Given the description of an element on the screen output the (x, y) to click on. 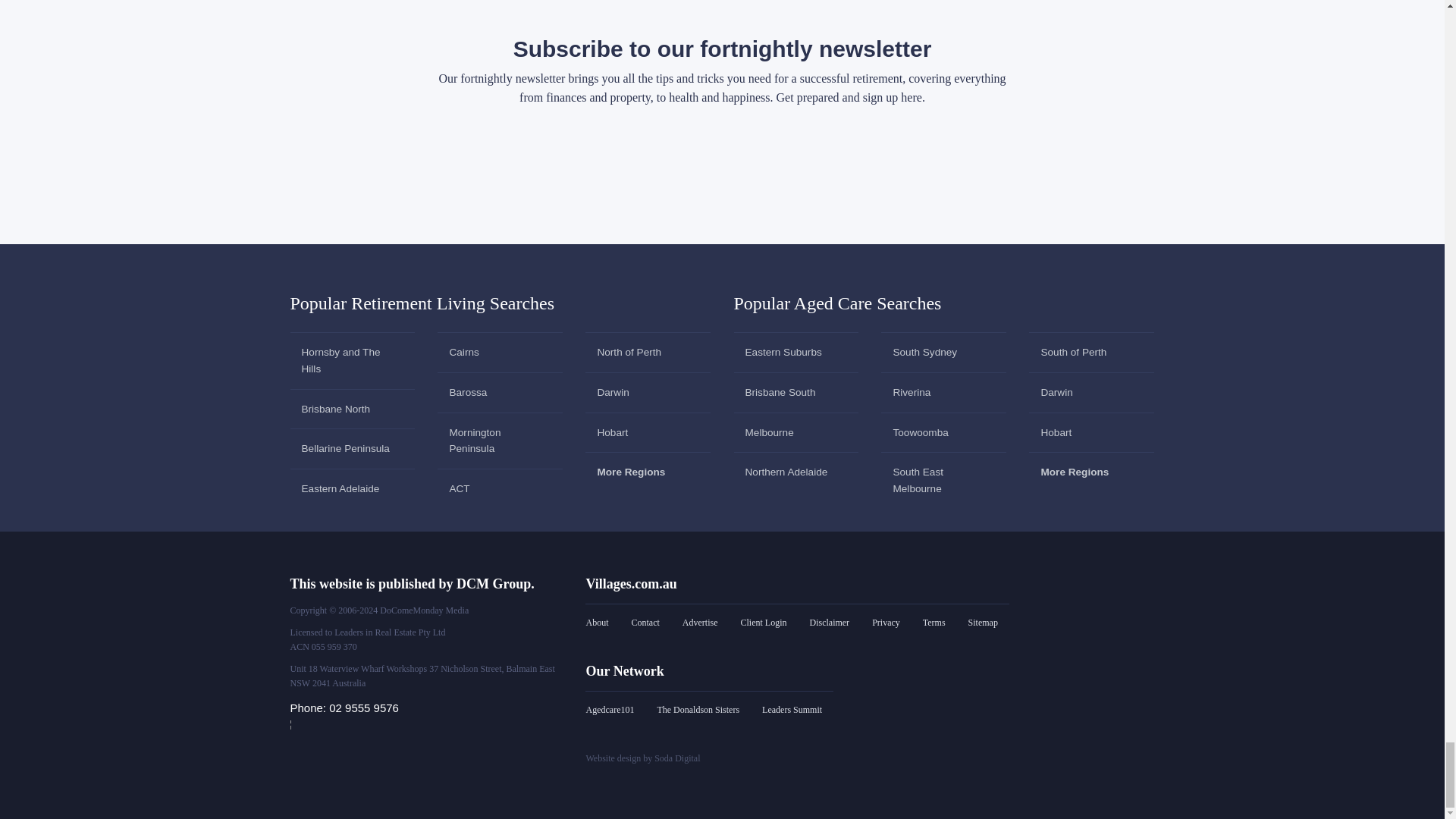
Form 0 (722, 172)
